Given the description of an element on the screen output the (x, y) to click on. 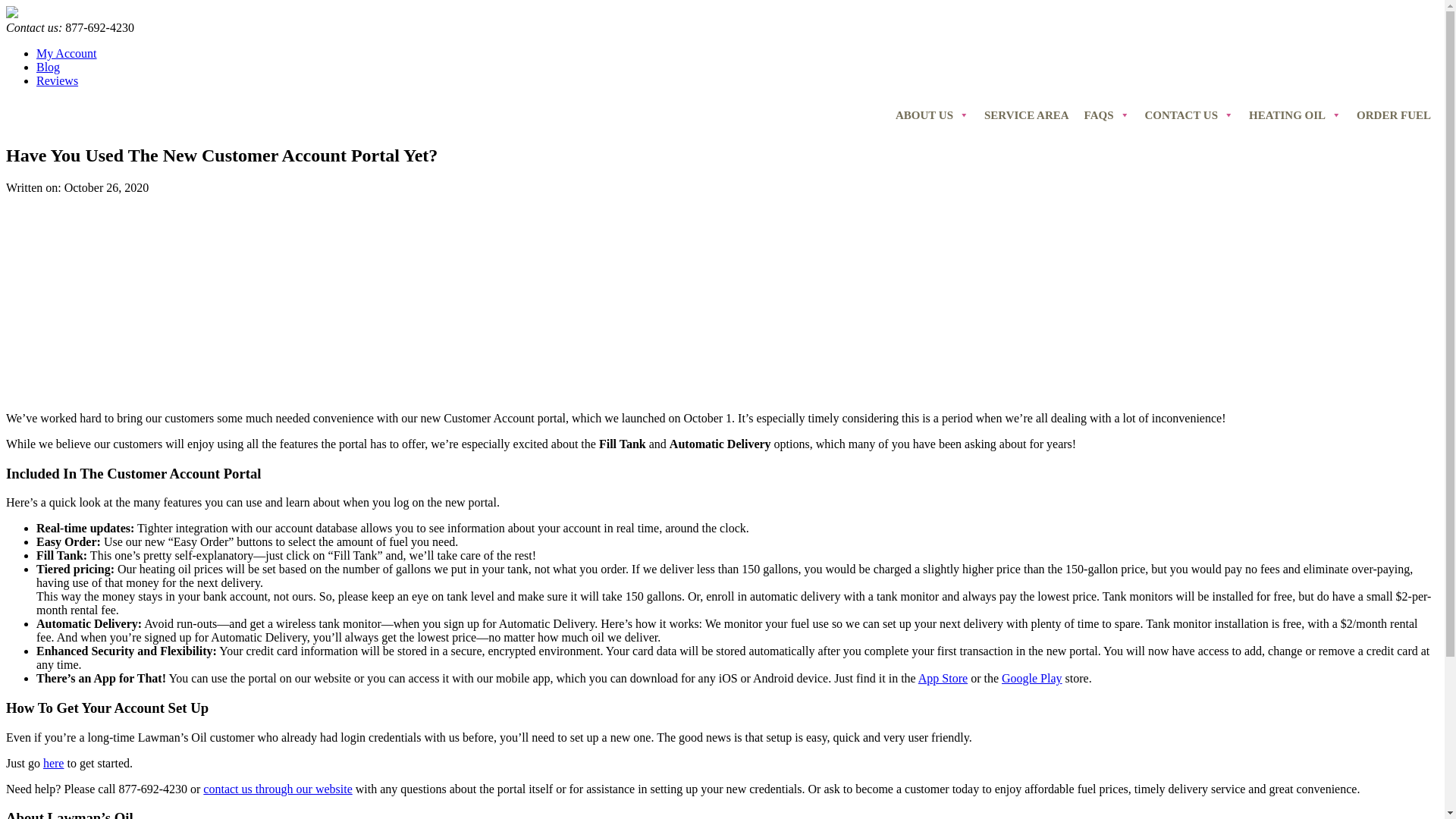
App Store (943, 677)
CONTACT US (1189, 114)
Google Play (1031, 677)
Blog (47, 66)
HEATING OIL (1295, 114)
home (11, 13)
contact (277, 788)
Reviews (57, 80)
here (53, 762)
my account (53, 762)
FAQS (1107, 114)
ABOUT US (932, 114)
SERVICE AREA (1026, 114)
apple app (943, 677)
contact us through our website (277, 788)
